Given the description of an element on the screen output the (x, y) to click on. 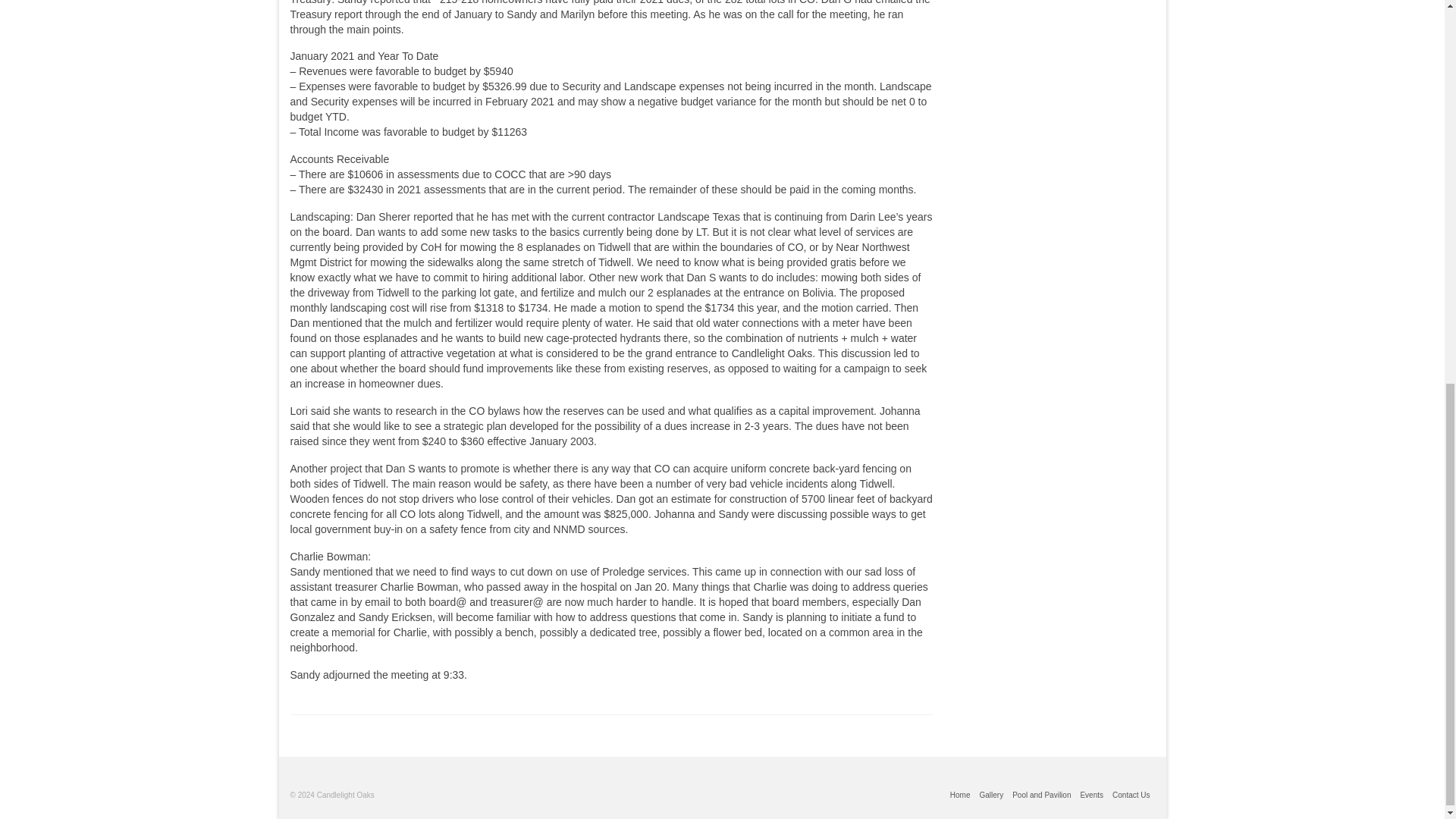
Home (959, 795)
Contact Us (1131, 795)
Events (1091, 795)
Pool and Pavilion (1041, 795)
Gallery (990, 795)
